Given the description of an element on the screen output the (x, y) to click on. 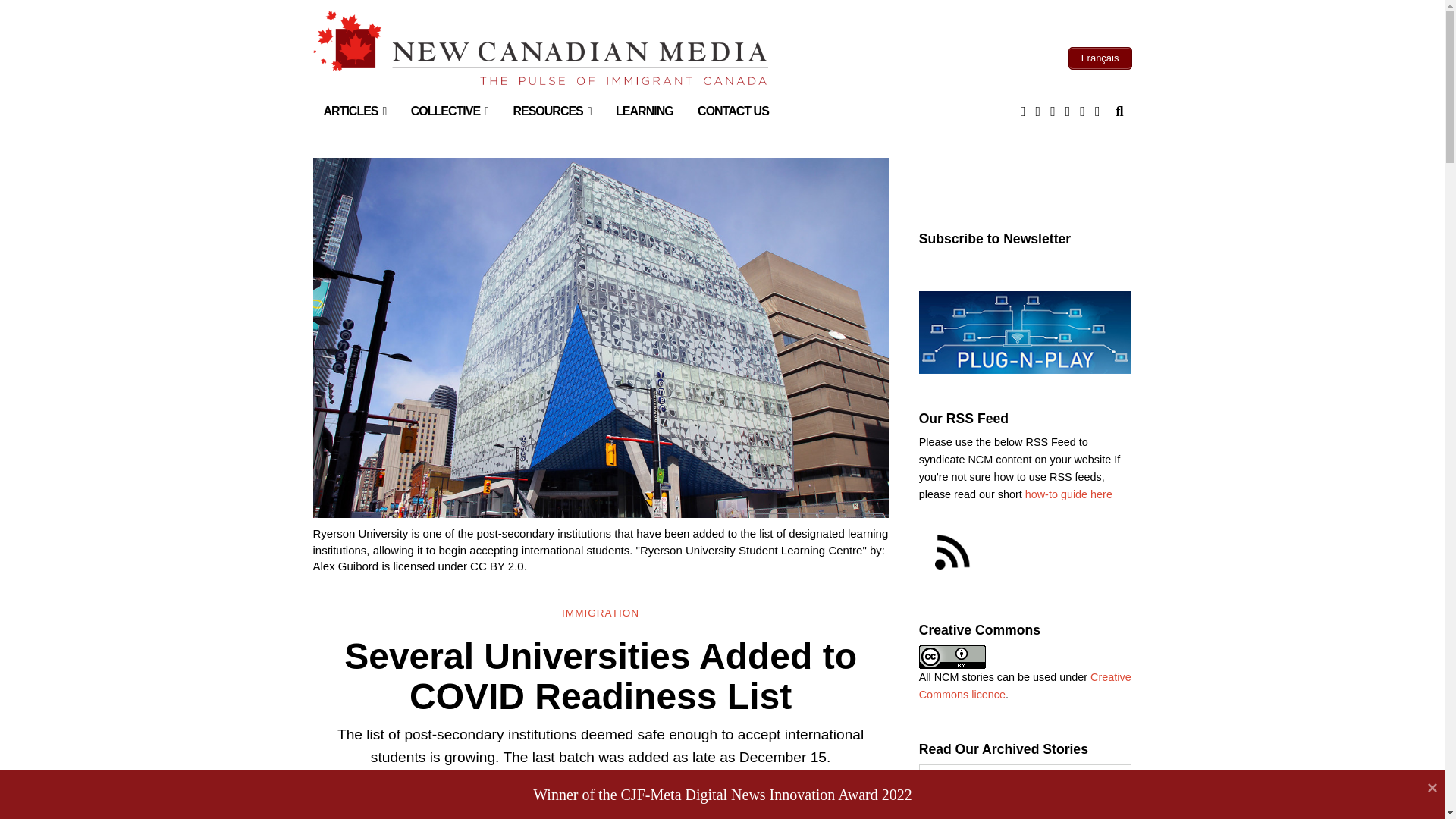
CONTACT US (732, 111)
COLLECTIVE (449, 111)
ARTICLES (354, 111)
RESOURCES (551, 111)
LEARNING (644, 111)
Mansoor Tanweer, Local Journalism Initiative Reporter (566, 788)
IMMIGRATION (600, 613)
